Given the description of an element on the screen output the (x, y) to click on. 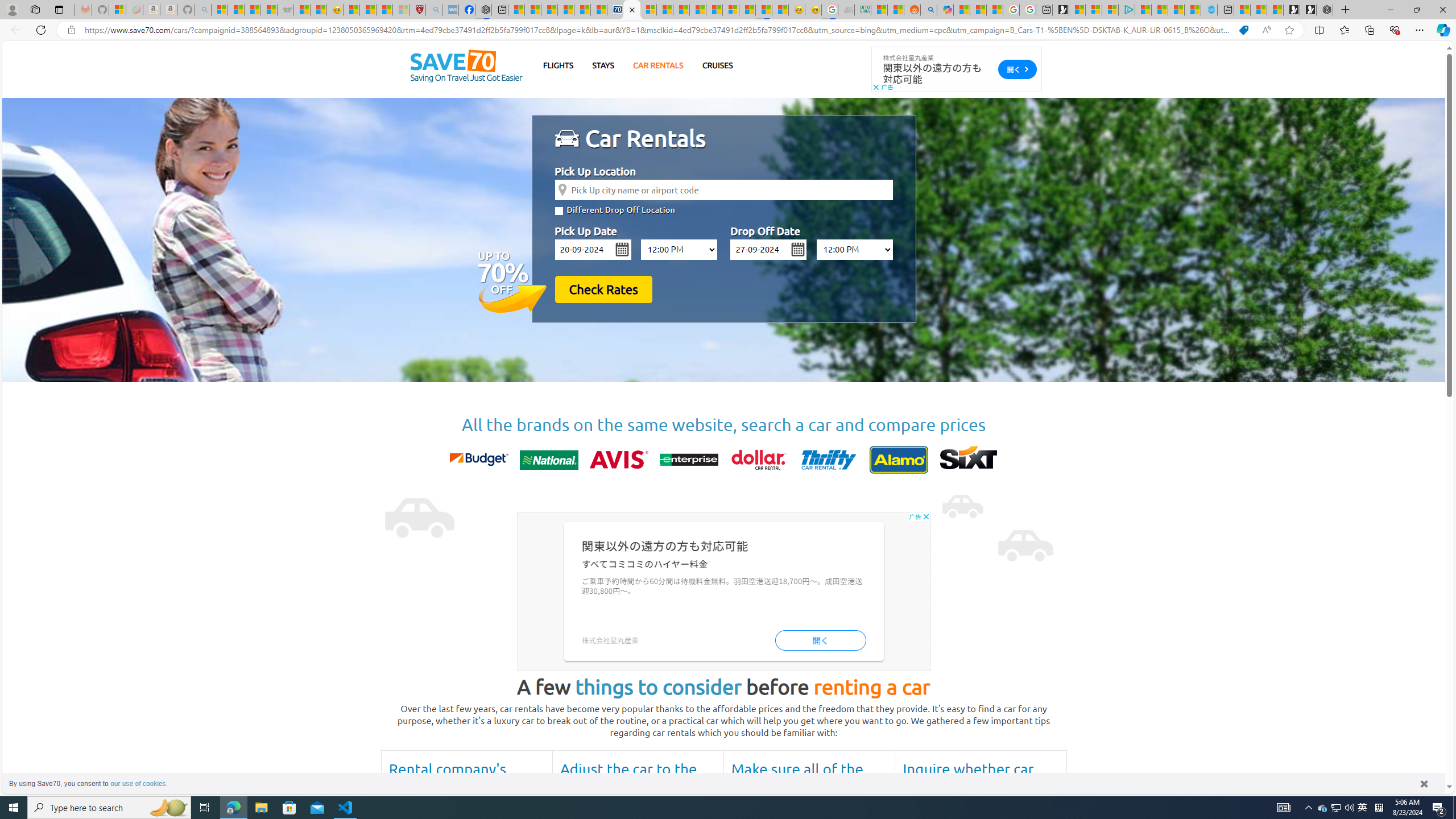
Class: select-dropoff-time select_box (854, 249)
Class: select-pickup-time select_box (678, 249)
FLIGHTS (558, 65)
